Given the description of an element on the screen output the (x, y) to click on. 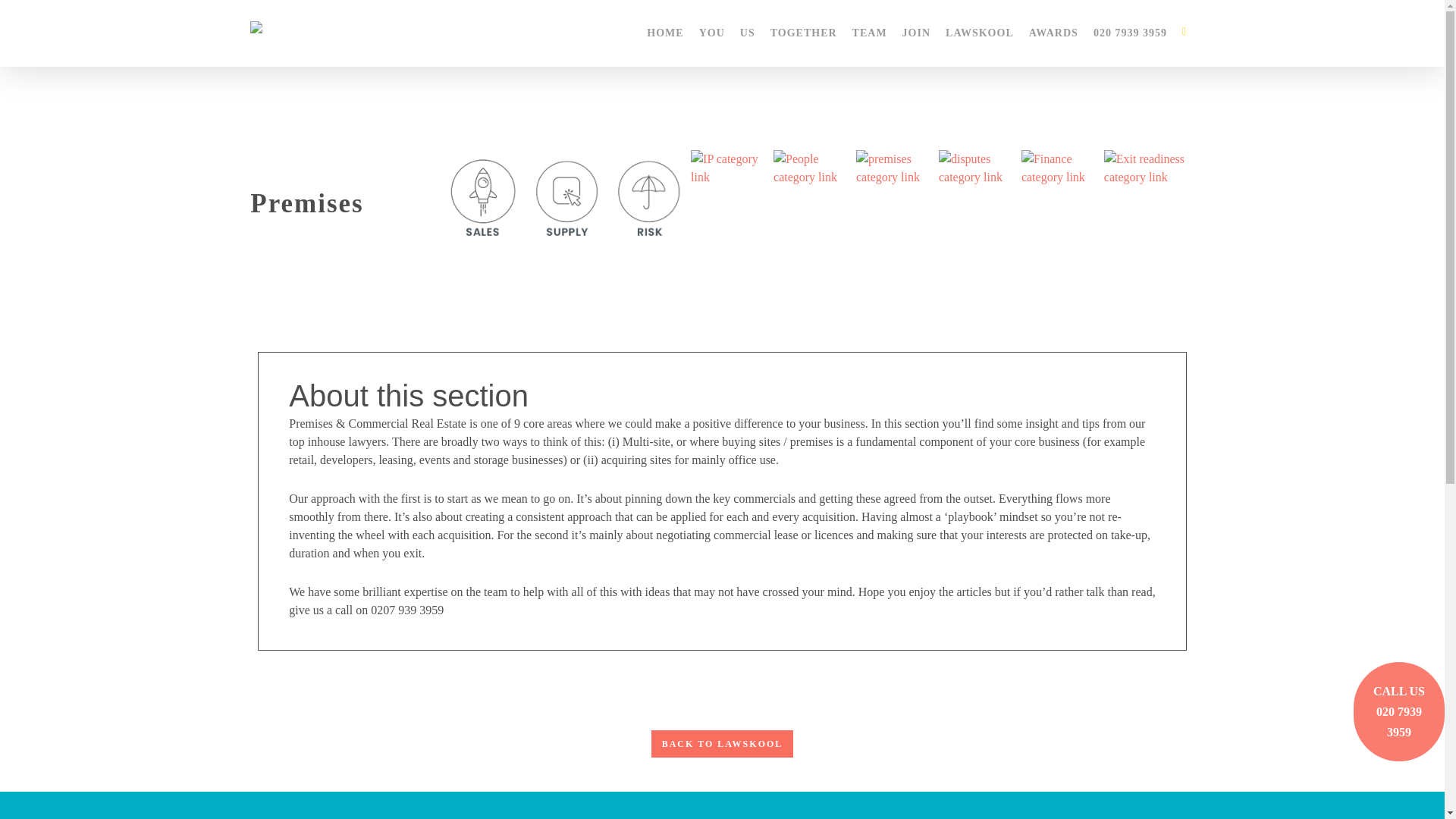
TEAM (869, 32)
TOGETHER (803, 32)
020 7939 3959 (1130, 32)
YOU (711, 32)
JOIN (916, 32)
US (747, 32)
LAWSKOOL (979, 32)
AWARDS (1054, 32)
HOME (664, 32)
